Given the description of an element on the screen output the (x, y) to click on. 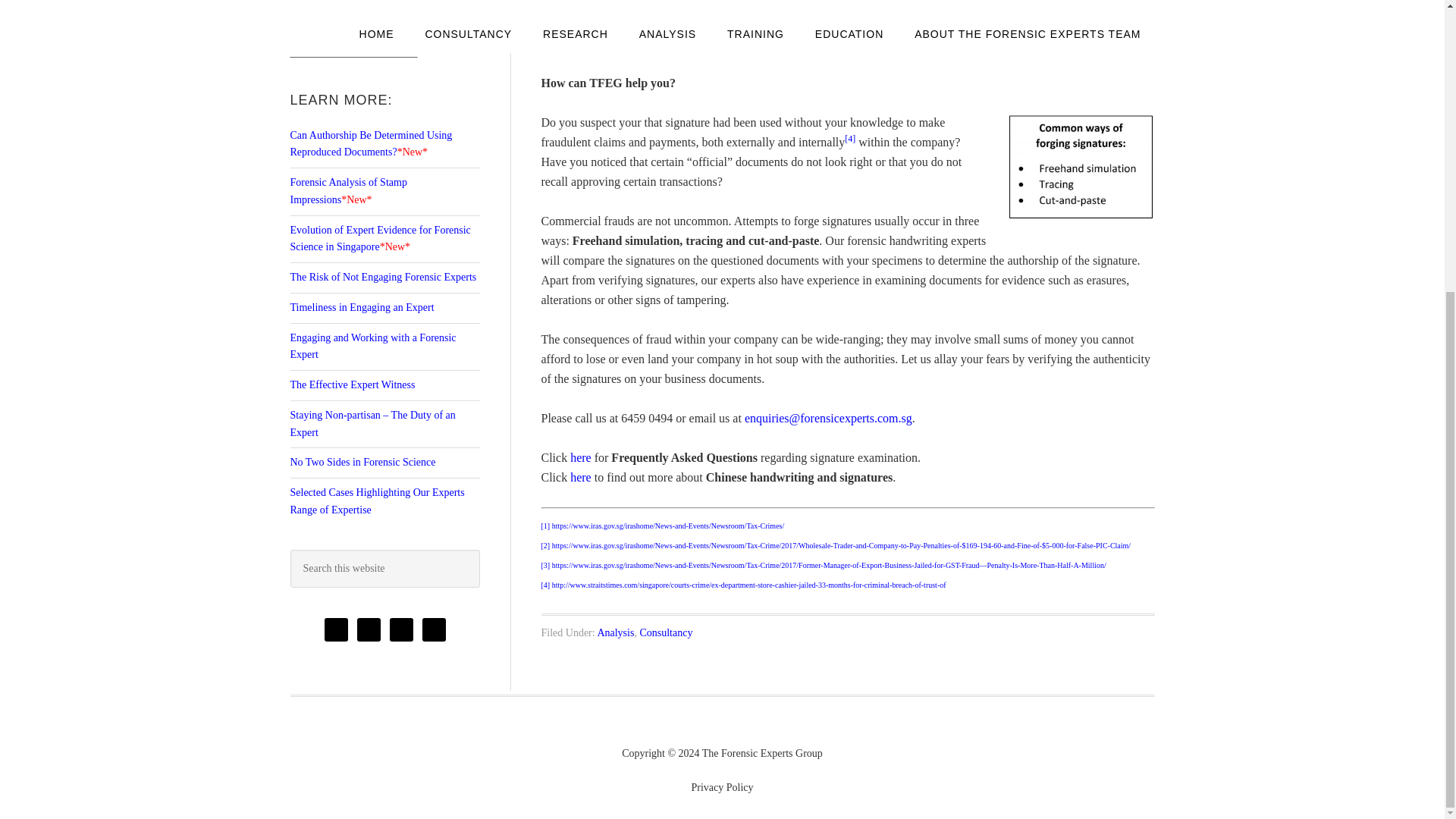
The Risk of Not Engaging Forensic Experts (382, 276)
Consultancy (666, 632)
Engaging and Working with a Forensic Expert (372, 346)
here (580, 477)
here (580, 457)
Selected Cases Highlighting Our Experts Range of Expertise (376, 500)
Timeliness in Engaging an Expert (361, 307)
No Two Sides in Forensic Science (362, 461)
Analysis (614, 632)
The Effective Expert Witness (351, 384)
